Given the description of an element on the screen output the (x, y) to click on. 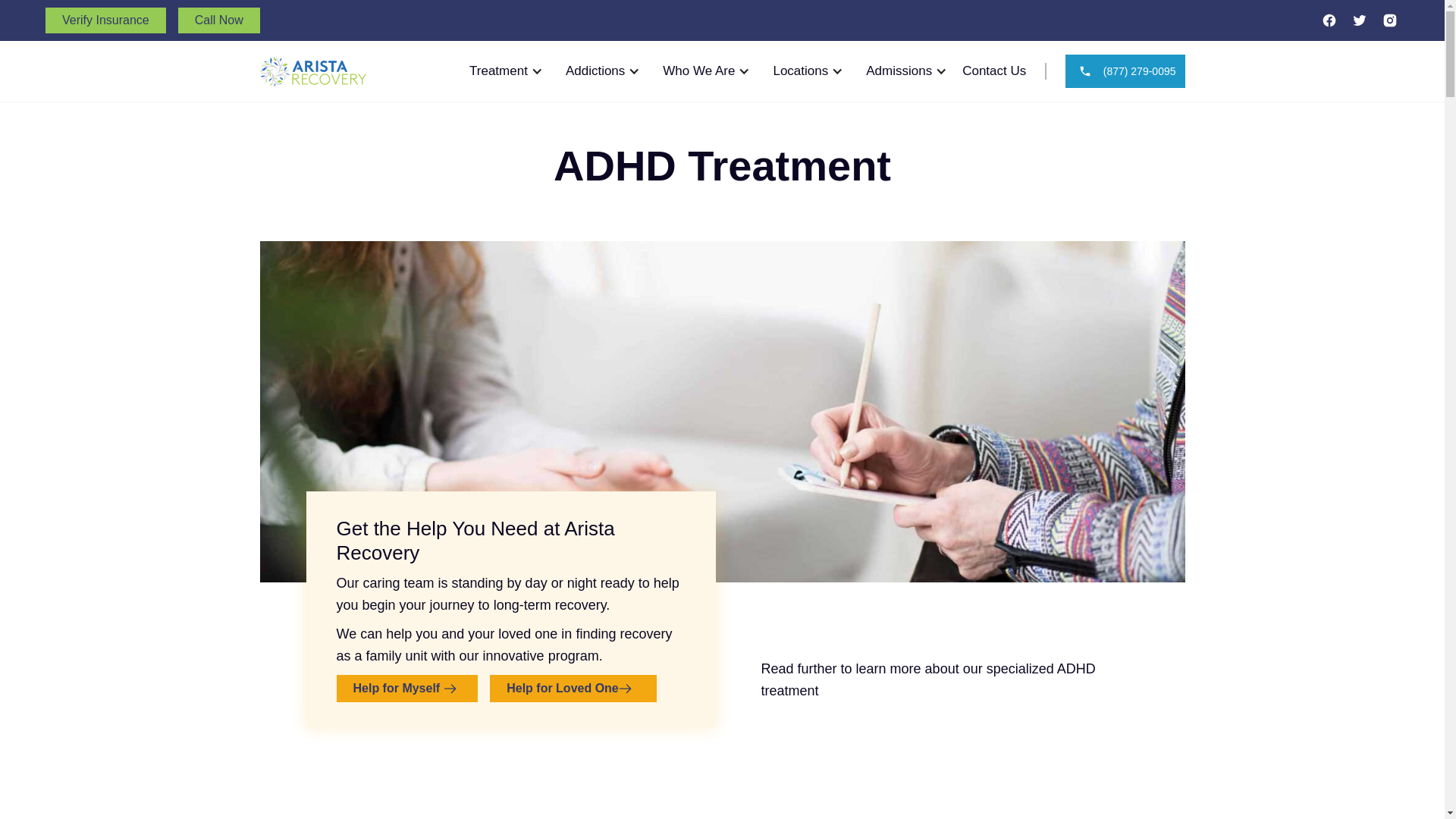
Verify Insurance (105, 20)
Addictions (595, 70)
Call Now (218, 20)
Treatment (497, 70)
